Given the description of an element on the screen output the (x, y) to click on. 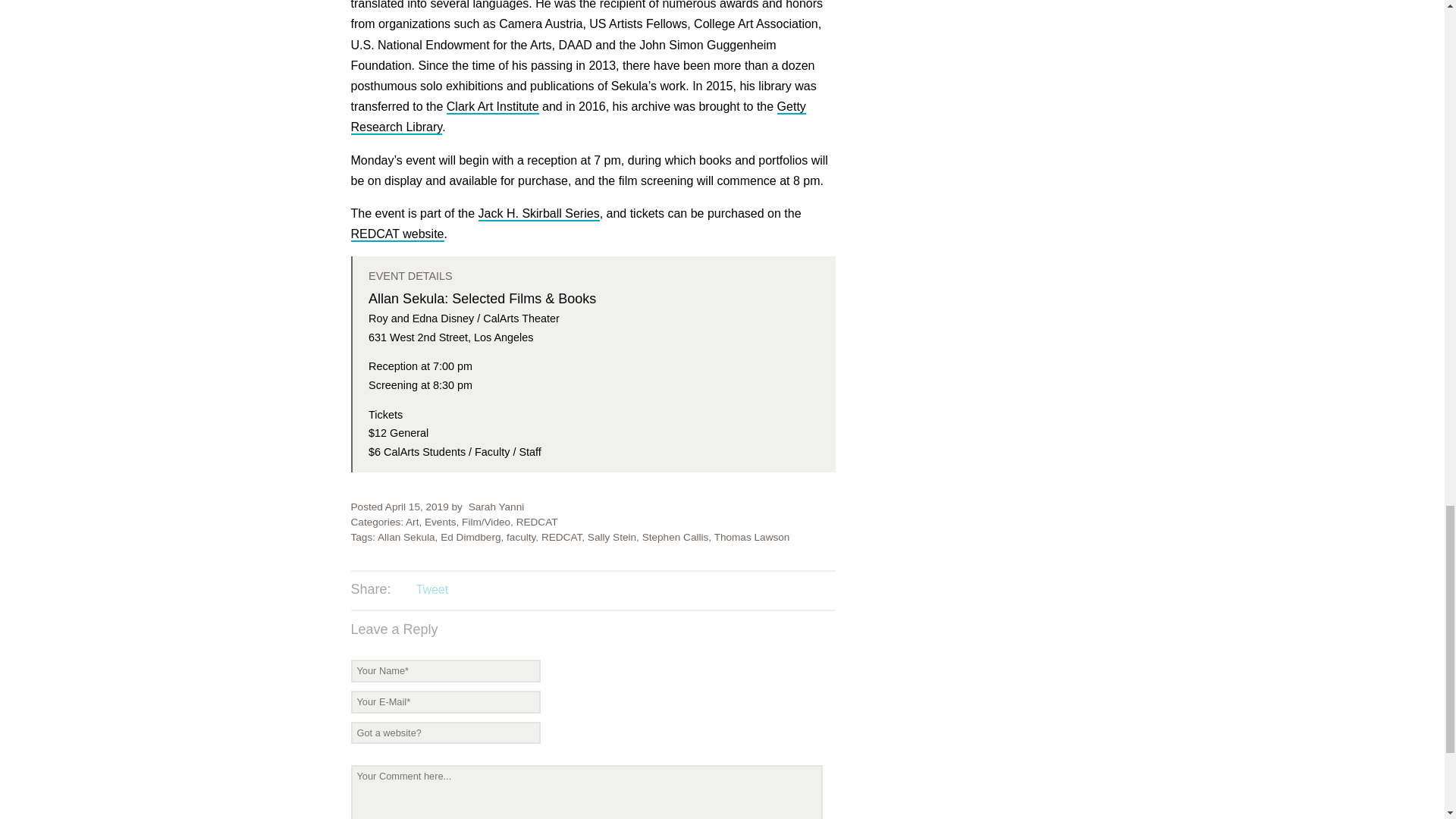
Share on Tumblr (493, 590)
Ed Dimdberg (470, 536)
Getty Research Library (577, 117)
Clark Art Institute (492, 106)
Stephen Callis (675, 536)
REDCAT website (397, 234)
Posts by Sarah Yanni (496, 506)
Jack H. Skirball Series (539, 214)
Art (412, 521)
Allan Sekula (406, 536)
